Given the description of an element on the screen output the (x, y) to click on. 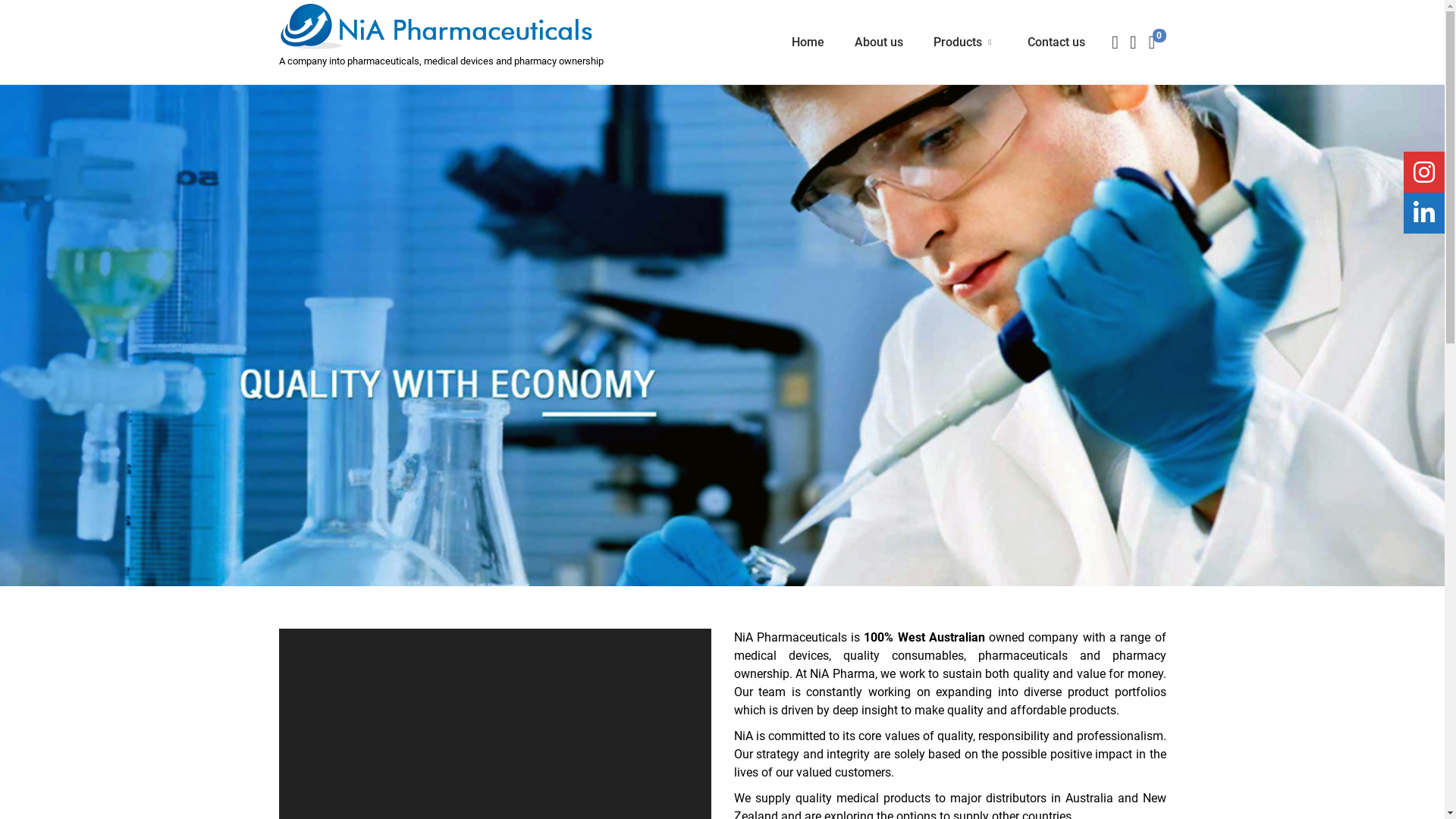
Home Element type: text (807, 42)
Search Element type: text (950, 428)
Products Element type: text (965, 41)
About us Element type: text (878, 42)
0 Element type: text (1151, 42)
Contact us Element type: text (1056, 42)
Skip to navigation Element type: text (279, 41)
